Given the description of an element on the screen output the (x, y) to click on. 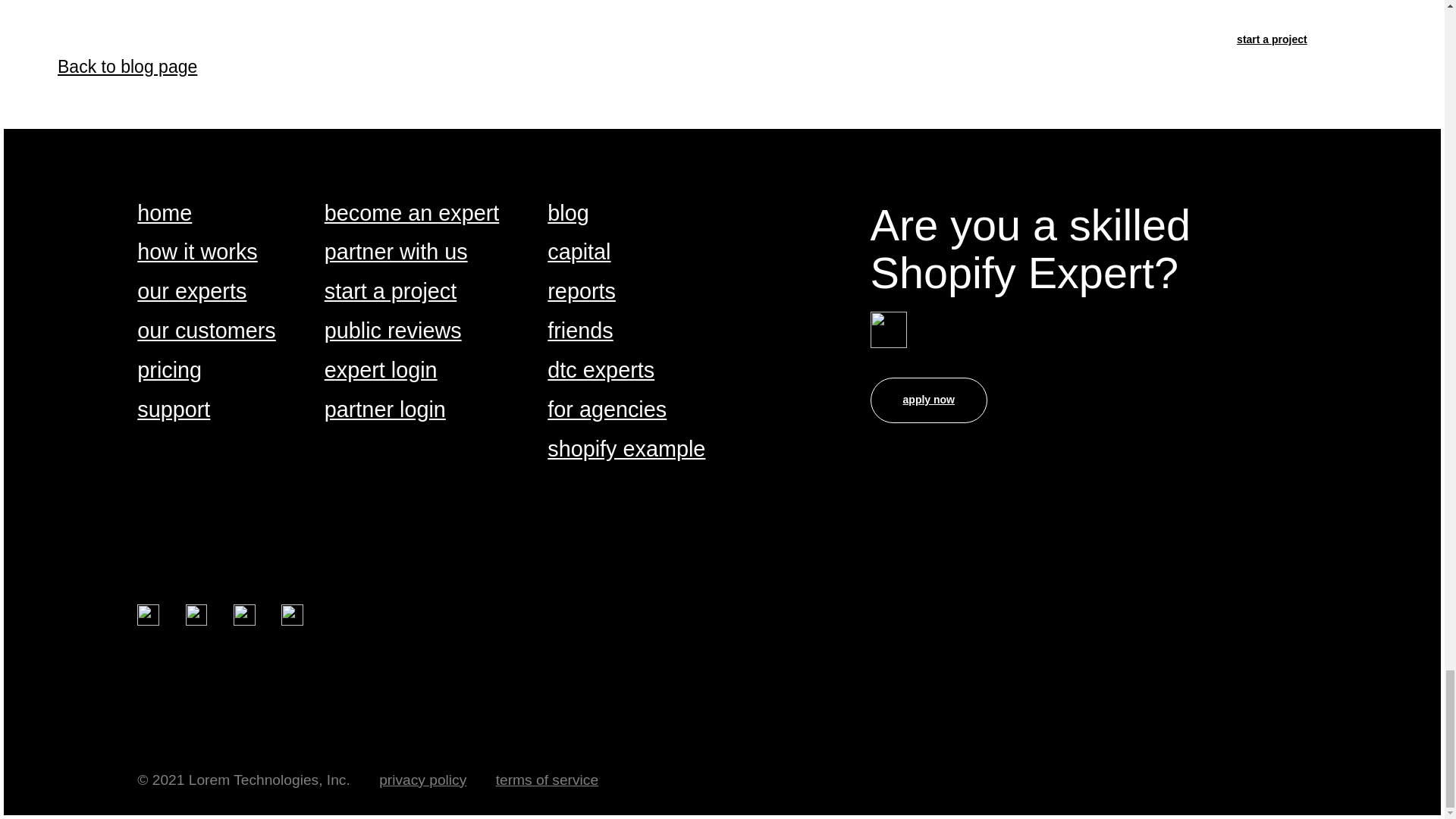
terms of service (547, 779)
reports (581, 292)
friends (579, 331)
support (172, 410)
expert login (381, 371)
our customers (205, 331)
partner with us (395, 252)
how it works (196, 252)
capital (578, 252)
start a project (390, 292)
